Given the description of an element on the screen output the (x, y) to click on. 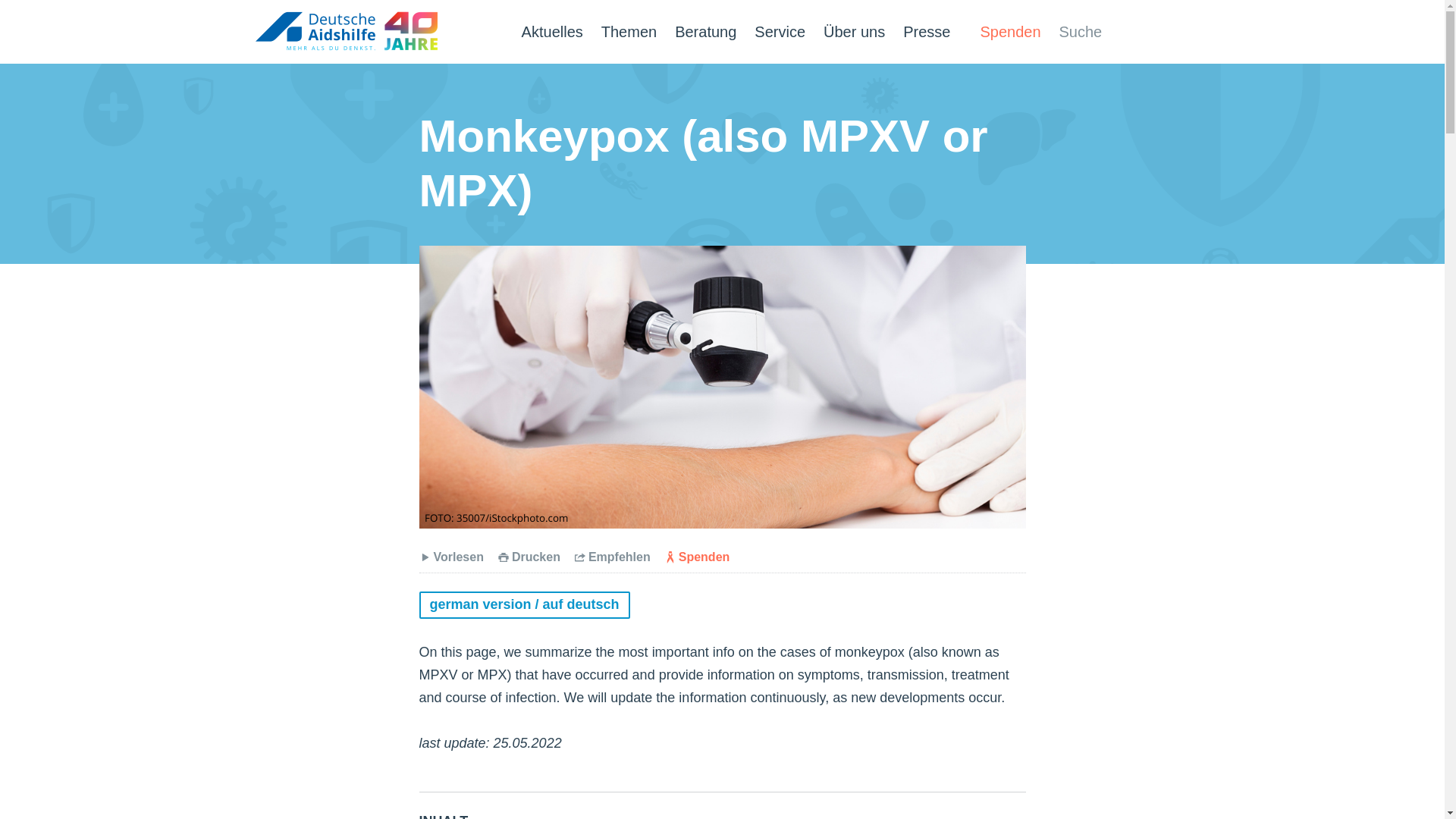
Themen (628, 31)
Zur Startseite: Deutsche Aidshilfe (345, 30)
Aidshilfe in Leichter Sprache (1177, 31)
Aktuelles (552, 31)
Suchbegriff eingeben (1085, 31)
Go to our english website (1138, 31)
